Given the description of an element on the screen output the (x, y) to click on. 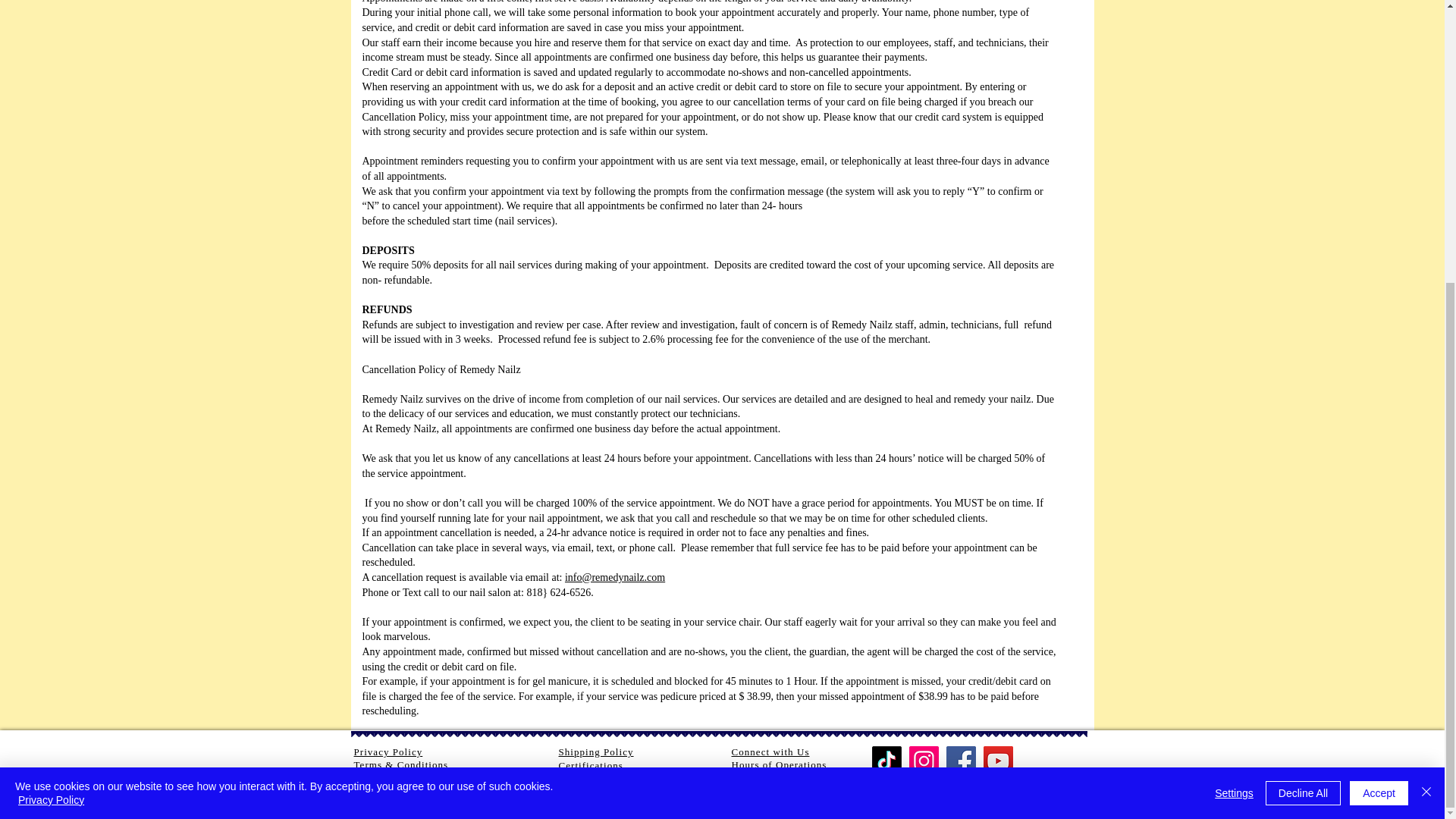
Connect with Us (769, 751)
Accept (1378, 369)
Decline All (1302, 369)
Certifications (590, 765)
Hours of Operations (778, 764)
Shipping Policy (595, 751)
Products (577, 779)
Privacy Policy (387, 751)
Privacy Policy (50, 377)
